Given the description of an element on the screen output the (x, y) to click on. 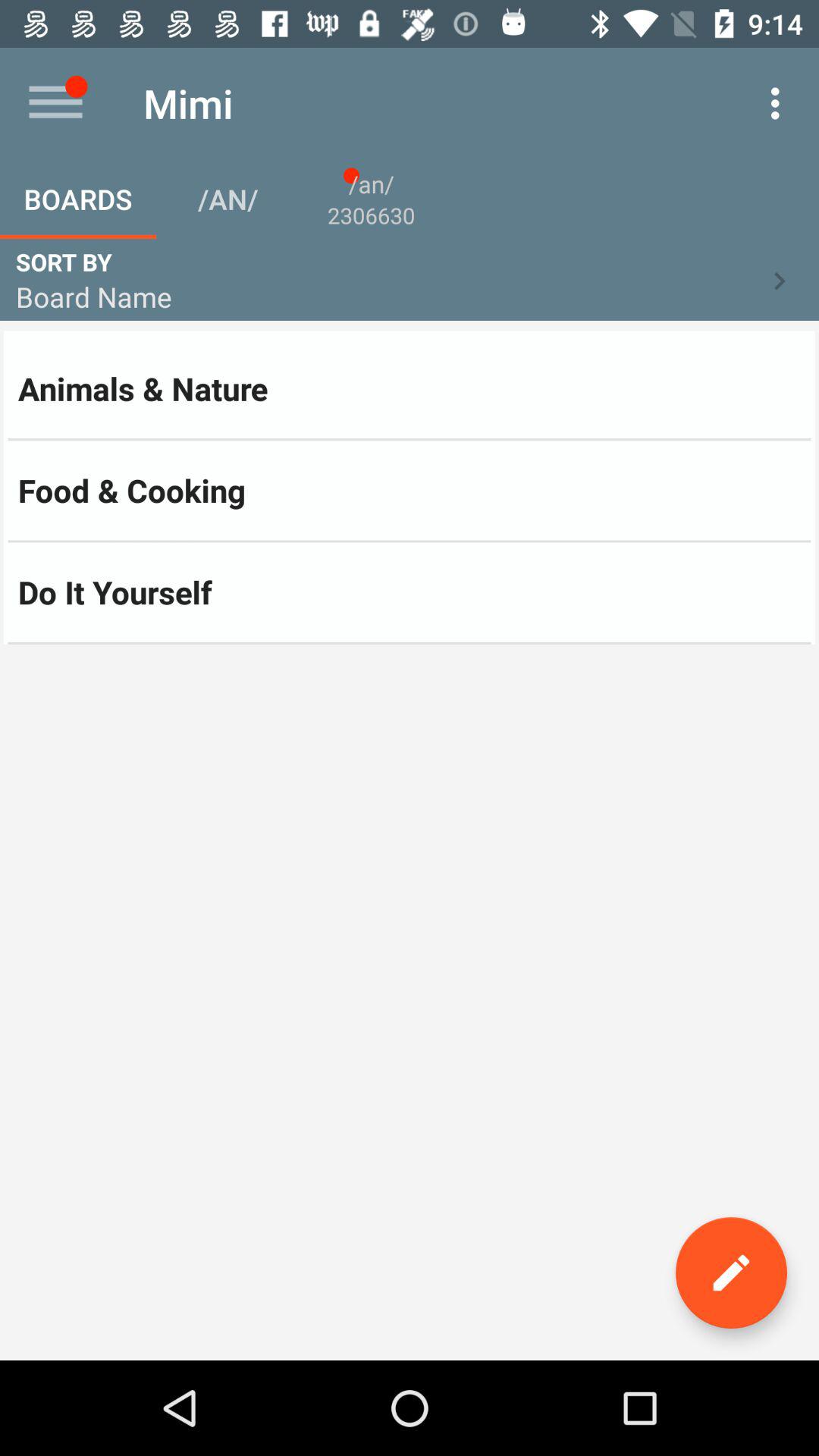
turn on item at the bottom right corner (731, 1272)
